Given the description of an element on the screen output the (x, y) to click on. 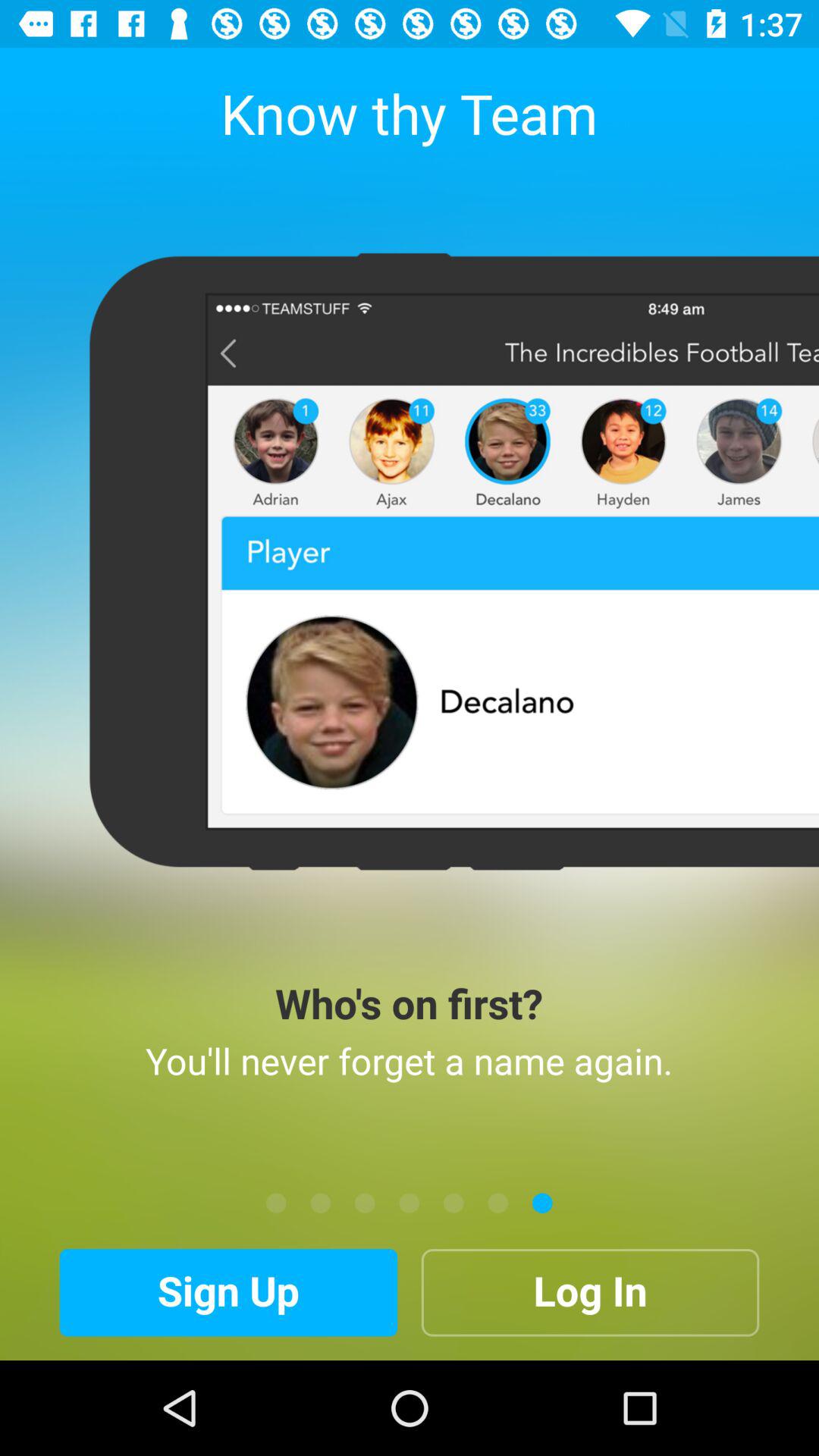
sixth tile (498, 1203)
